Given the description of an element on the screen output the (x, y) to click on. 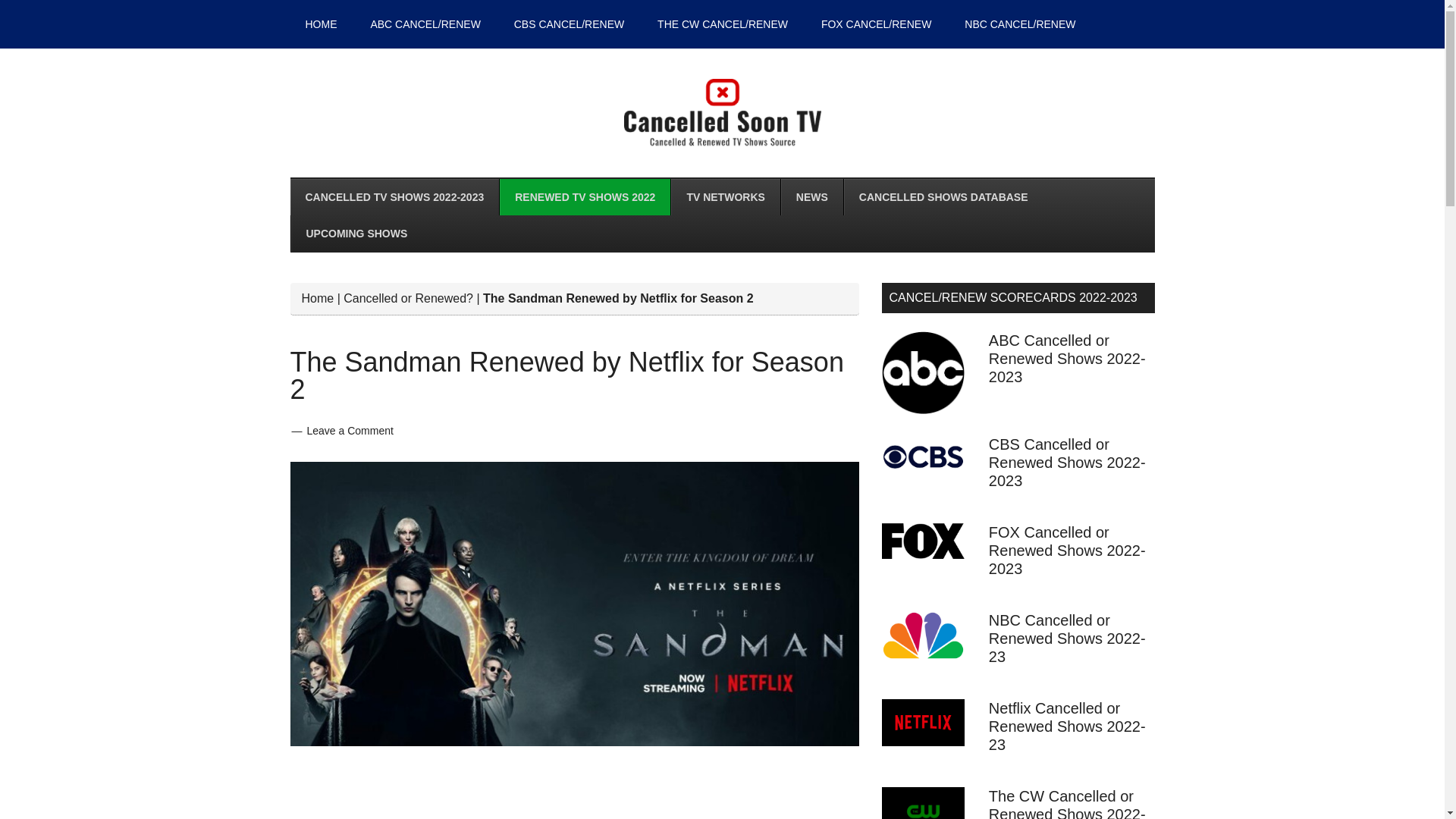
TV NETWORKS (723, 197)
Home (317, 297)
NEWS (811, 197)
RENEWED TV SHOWS 2022 (584, 197)
UPCOMING SHOWS (355, 233)
HOME (320, 24)
ABC Cancelled or Renewed Shows 2022-2023 (1066, 358)
CANCELLED SHOWS DATABASE (943, 197)
Leave a Comment (349, 430)
Cancelled or Renewed? (408, 297)
CANCELLED TV SHOWS 2022-2023 (394, 197)
